Given the description of an element on the screen output the (x, y) to click on. 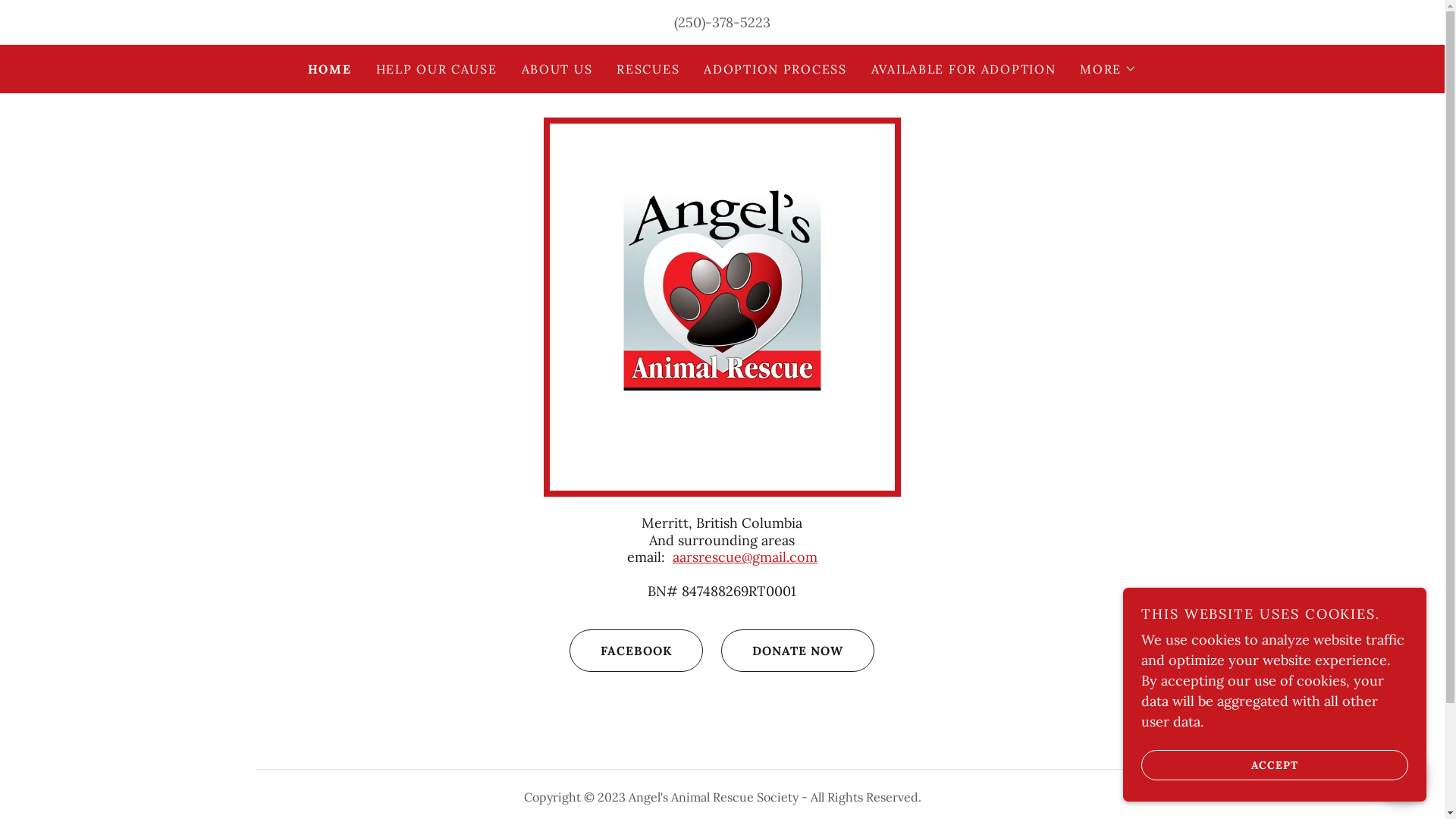
DONATE NOW Element type: text (797, 650)
AVAILABLE FOR ADOPTION Element type: text (963, 68)
HELP OUR CAUSE Element type: text (436, 68)
RESCUES Element type: text (647, 68)
(250)-378-5223 Element type: text (722, 22)
aarsrescue@gmail.com Element type: text (744, 556)
ABOUT US Element type: text (557, 68)
HOME Element type: text (329, 68)
FACEBOOK Element type: text (635, 650)
ACCEPT Element type: text (1274, 764)
ADOPTION PROCESS Element type: text (774, 68)
MORE Element type: text (1107, 68)
